Given the description of an element on the screen output the (x, y) to click on. 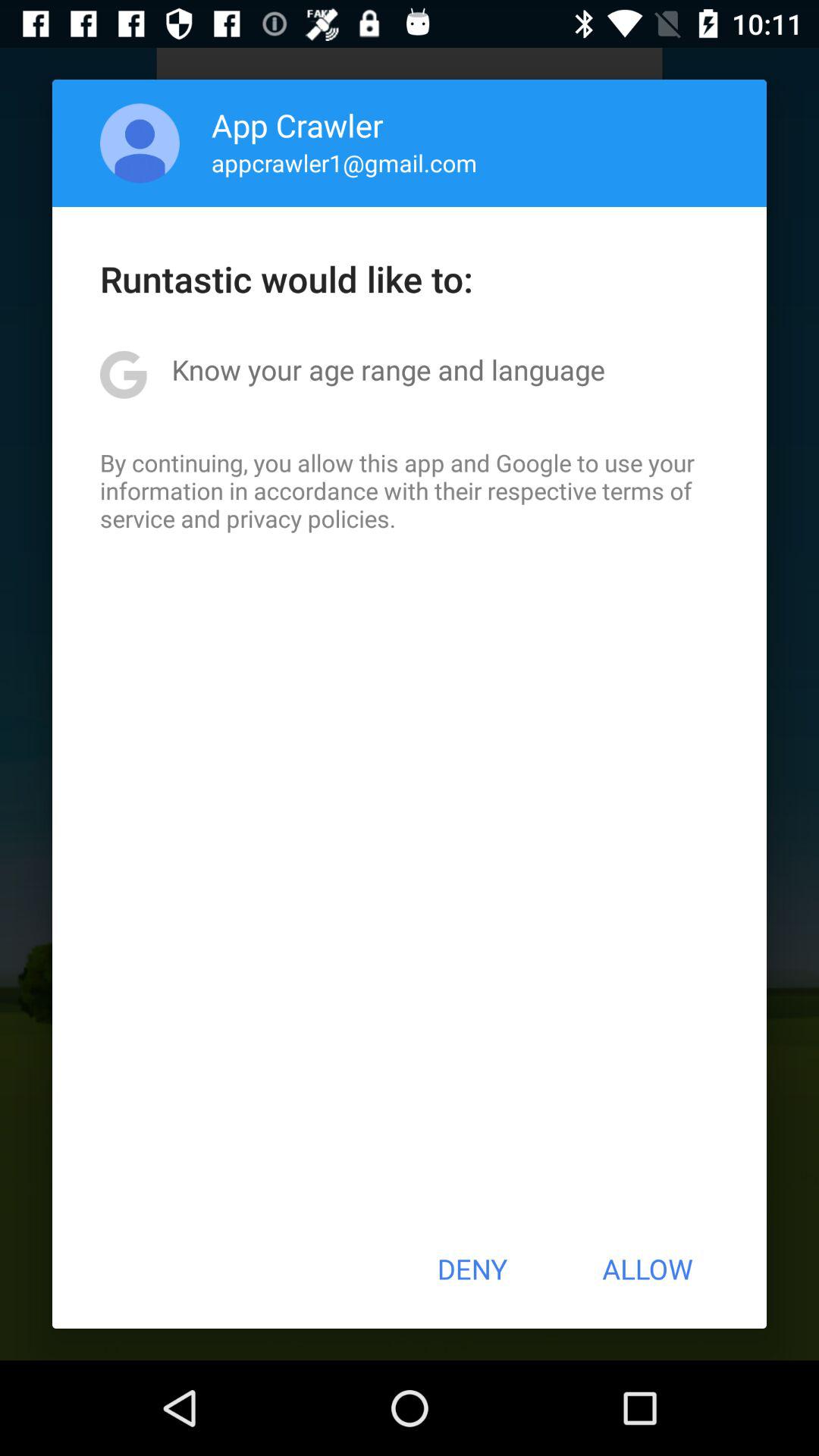
click the app next to the app crawler icon (139, 143)
